Given the description of an element on the screen output the (x, y) to click on. 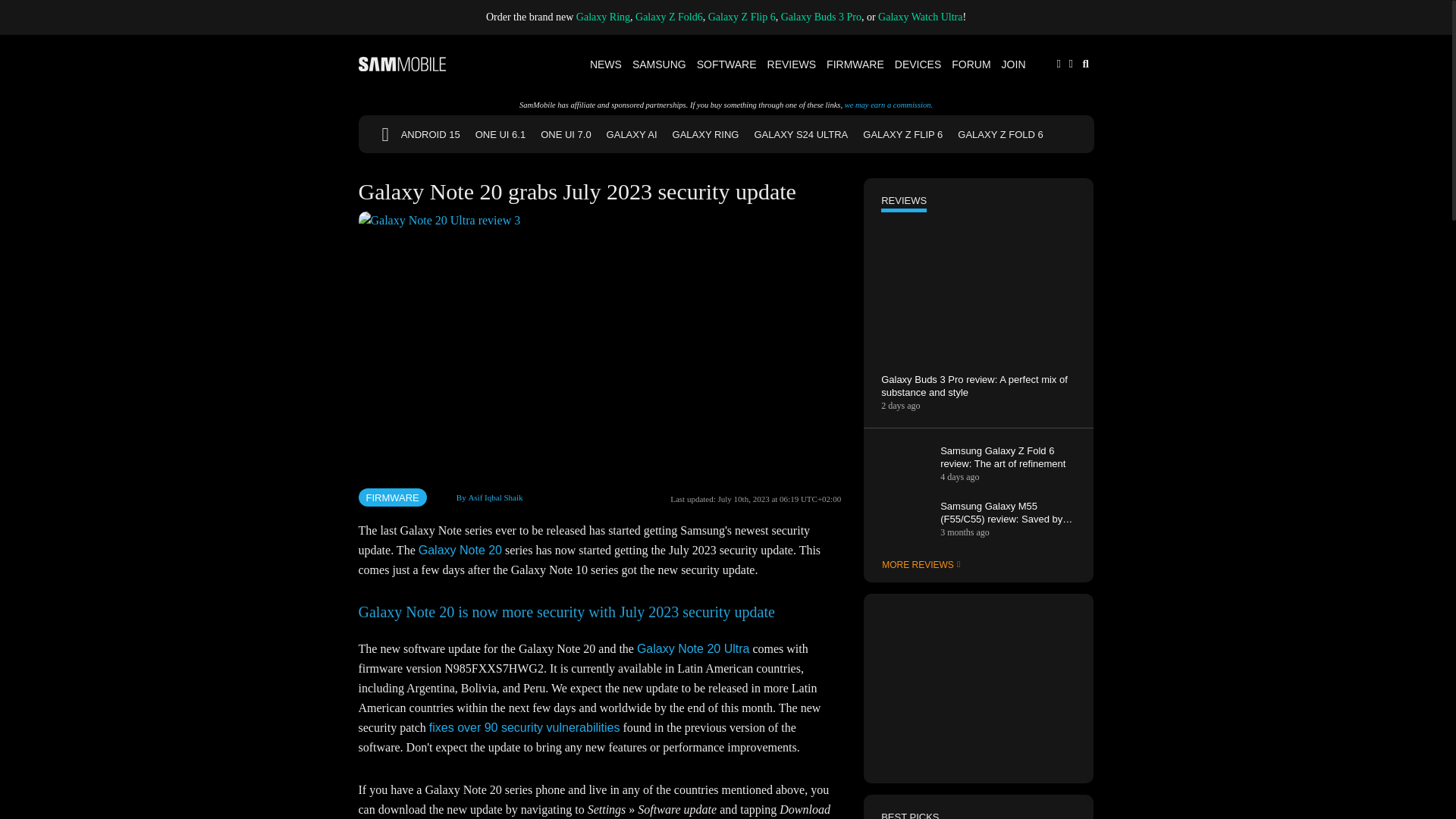
Galaxy Watch Ultra (919, 16)
Galaxy Ring (603, 16)
Galaxy Buds 3 Pro (820, 16)
Galaxy Z Flip 6 (741, 16)
SamMobile logo (401, 63)
Galaxy Z Fold6 (668, 16)
SAMSUNG (659, 64)
Samsung (659, 64)
